Given the description of an element on the screen output the (x, y) to click on. 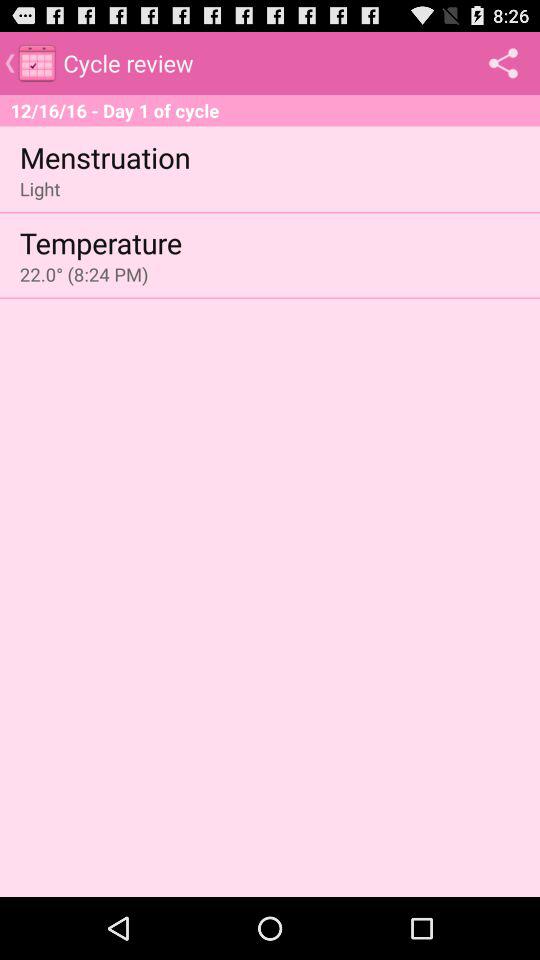
turn on the app below light app (100, 242)
